Given the description of an element on the screen output the (x, y) to click on. 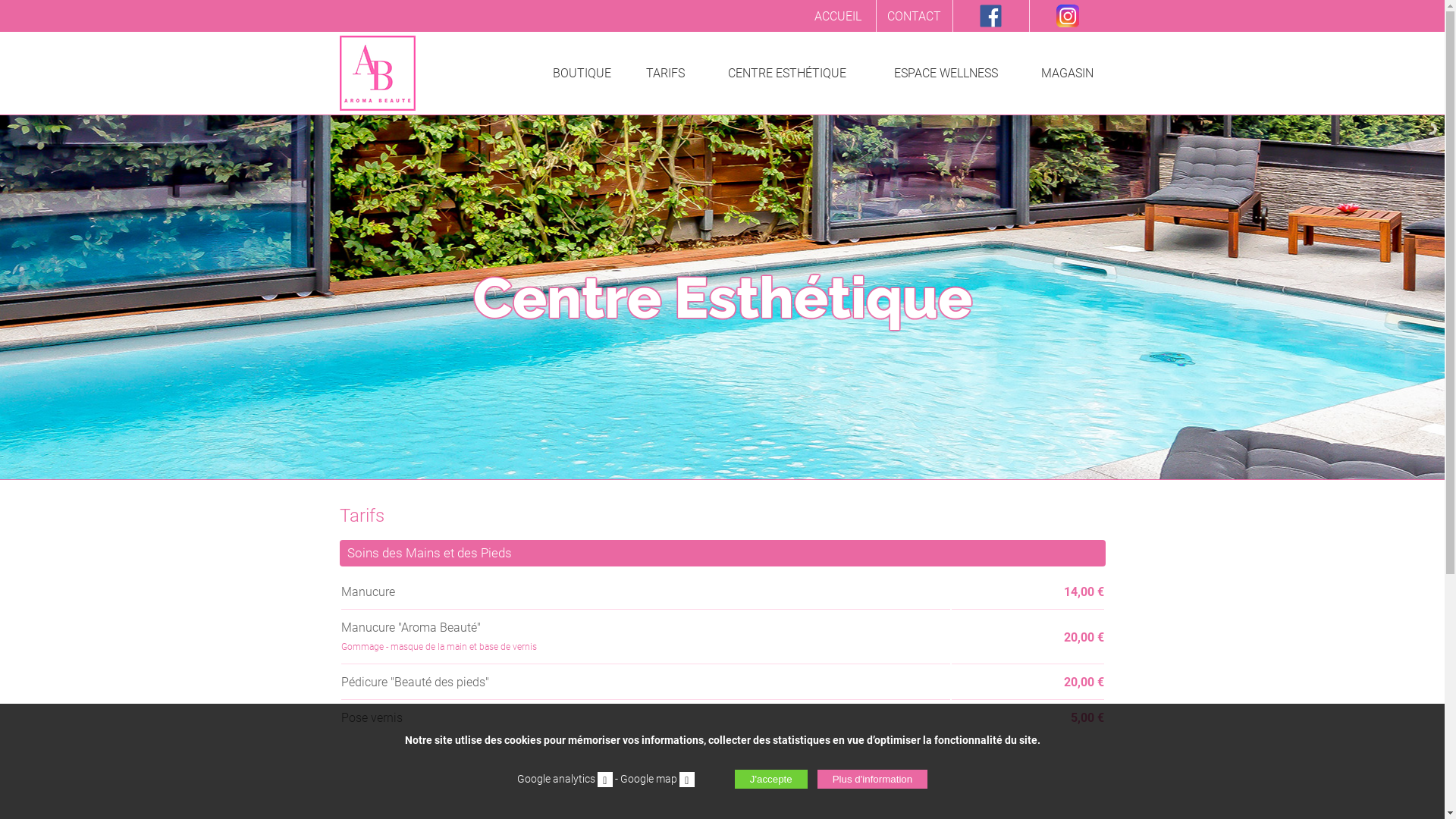
ESPACE WELLNESS Element type: text (946, 72)
MAGASIN Element type: text (1067, 72)
ACCUEIL Element type: text (837, 15)
TARIFS Element type: text (665, 72)
CONTACT Element type: text (914, 15)
Plus d'information Element type: text (872, 778)
J'accepte Element type: text (770, 778)
BOUTIQUE Element type: text (582, 72)
